Given the description of an element on the screen output the (x, y) to click on. 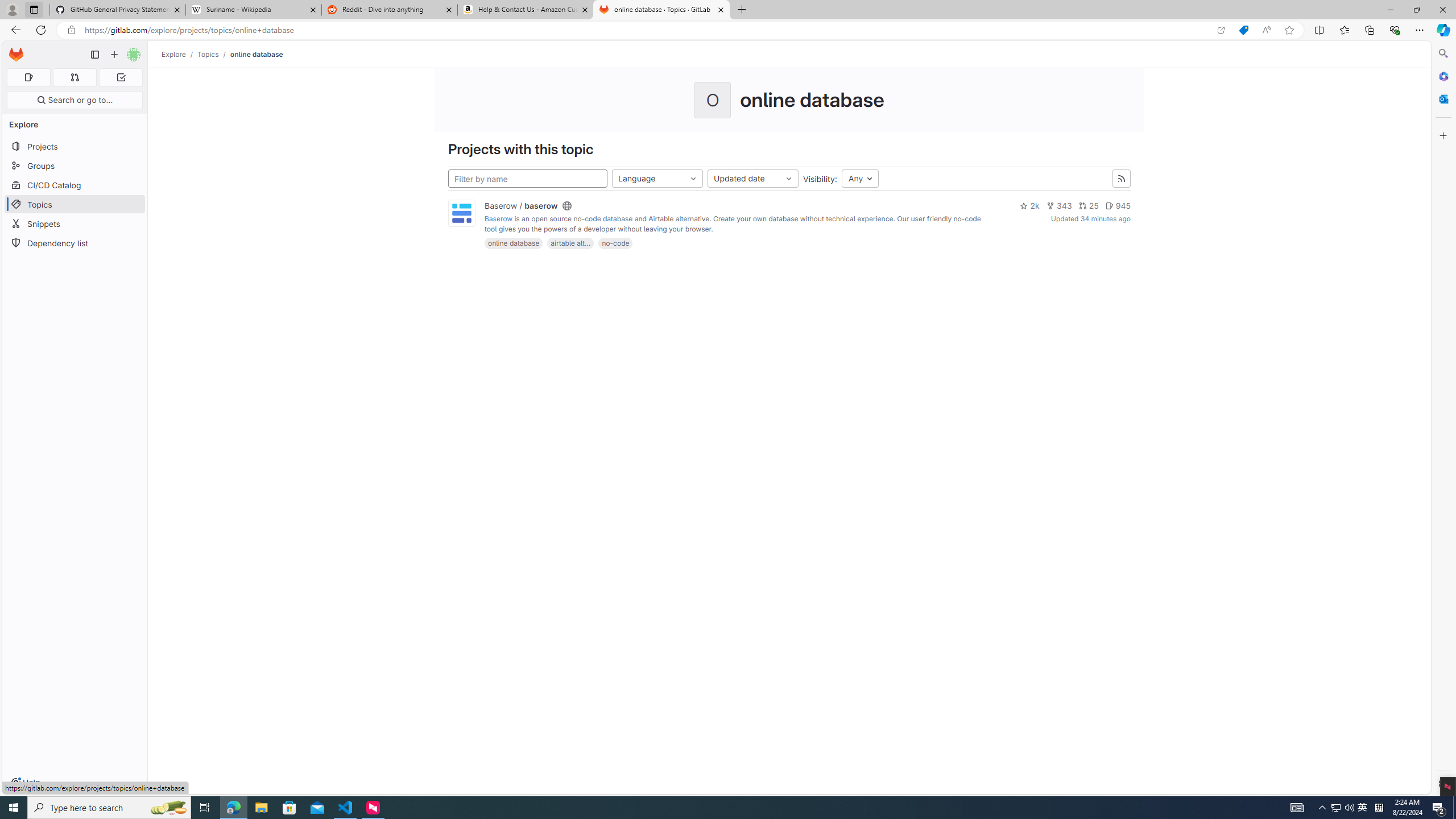
Close Outlook pane (1442, 98)
no-code (614, 243)
Projects (74, 145)
